Given the description of an element on the screen output the (x, y) to click on. 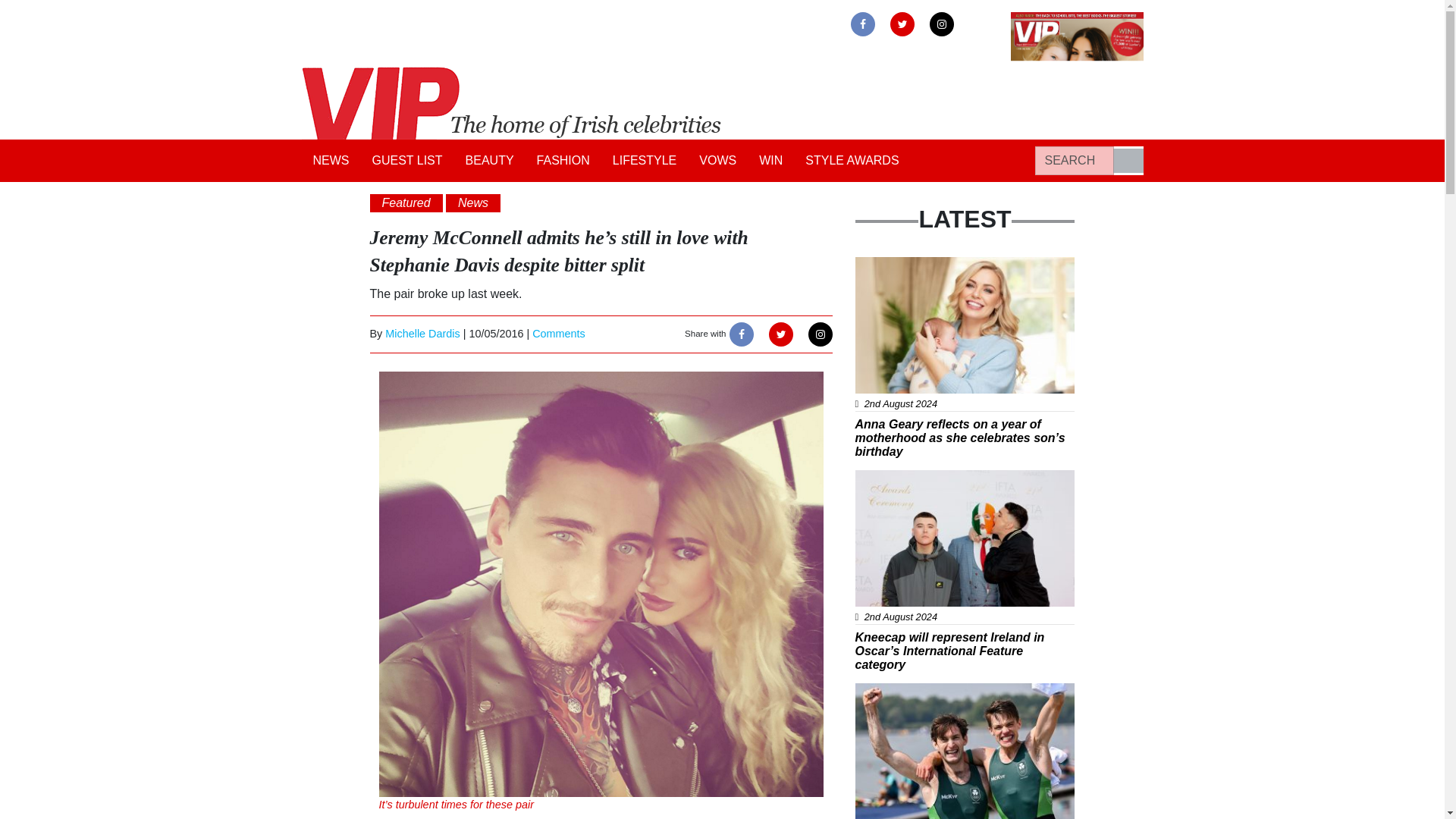
News (881, 265)
VOWS (717, 160)
Michelle Dardis (422, 333)
STYLE AWARDS (851, 160)
BEAUTY (489, 160)
News (472, 203)
FASHION (563, 160)
NEWS (331, 160)
Comments (558, 333)
LIFESTYLE (644, 160)
WIN (770, 160)
GUEST LIST (407, 160)
Featured (405, 203)
